Given the description of an element on the screen output the (x, y) to click on. 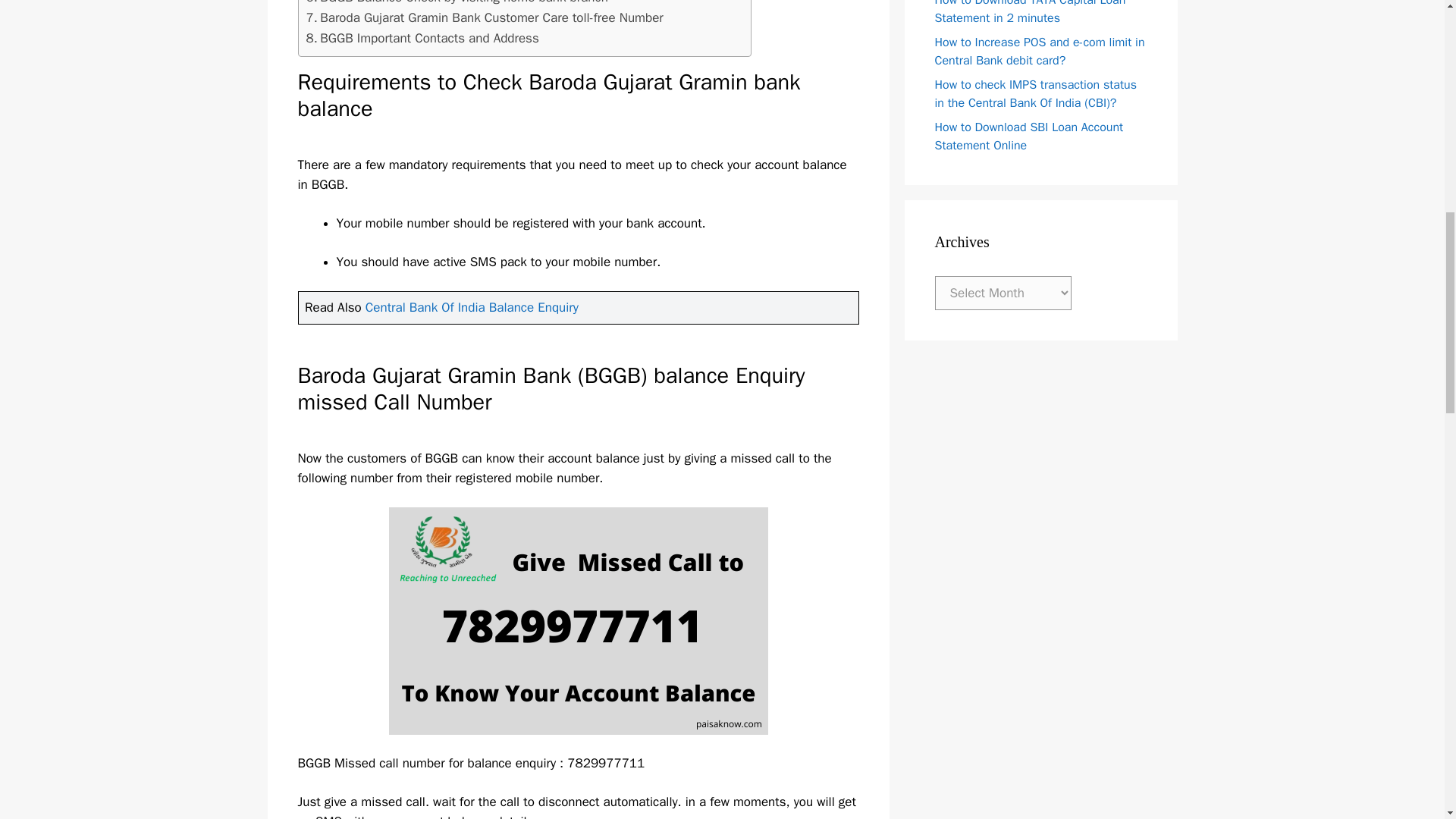
Scroll back to top (1406, 720)
BGGB Balance Check by visiting home bank branch (456, 3)
BGGB Important Contacts and Address (421, 37)
Central Bank Of India Balance Enquiry (471, 307)
Baroda Gujarat Gramin Bank Customer Care toll-free Number (484, 17)
BGGB Important Contacts and Address (421, 37)
BGGB Balance Check by visiting home bank branch (456, 3)
Baroda Gujarat Gramin Bank Customer Care toll-free Number (484, 17)
